Given the description of an element on the screen output the (x, y) to click on. 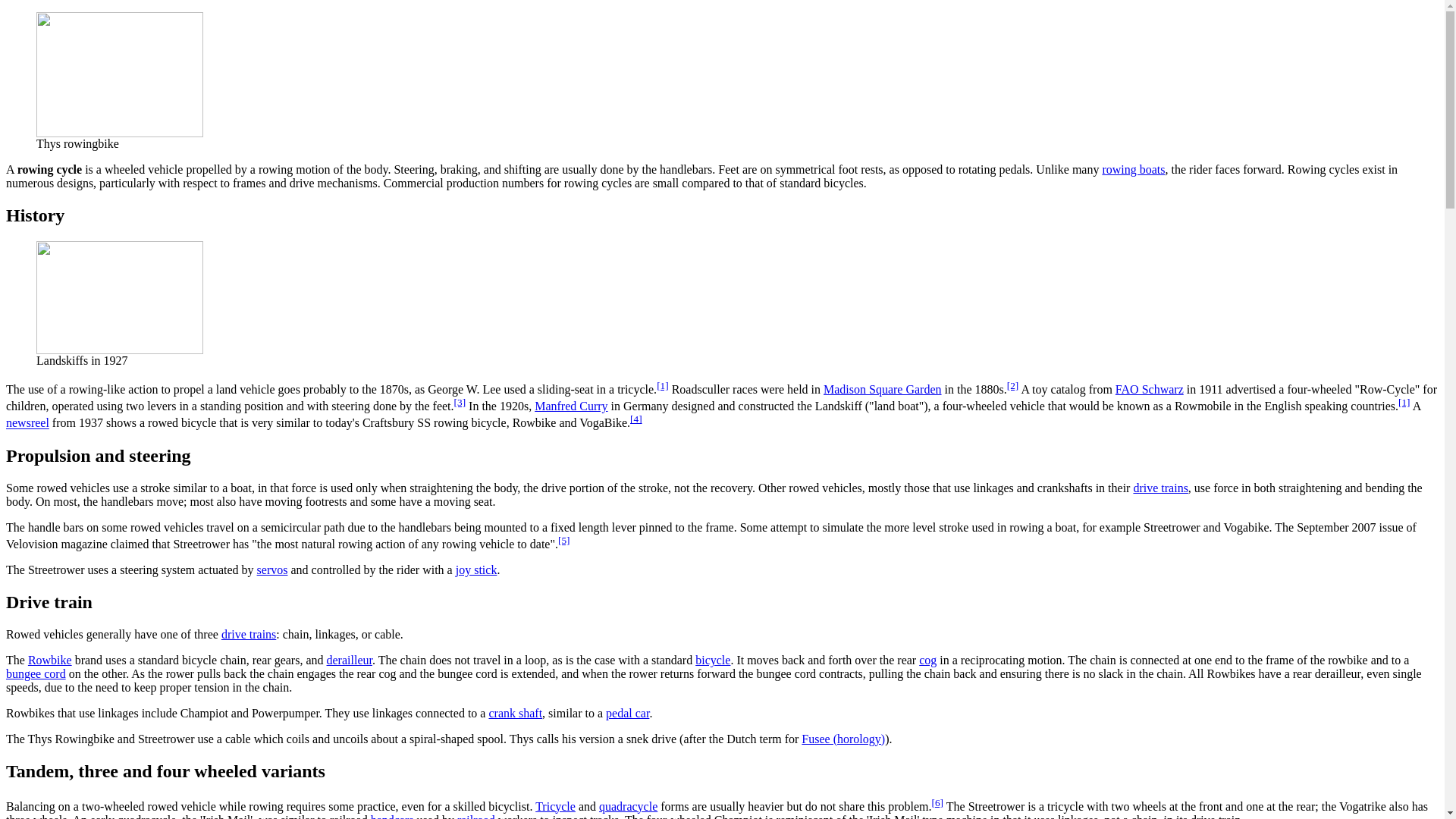
railroad (476, 816)
Drive train (248, 634)
quadracycle (628, 806)
servos (272, 569)
Joy stick (476, 569)
bicycle (712, 659)
newsreel (27, 422)
bungee cord (35, 673)
joy stick (476, 569)
derailleur (349, 659)
drive trains (1160, 487)
drive trains (248, 634)
Madison Square Garden (883, 389)
Madison Square Garden (883, 389)
FAO Schwarz (1149, 389)
